Given the description of an element on the screen output the (x, y) to click on. 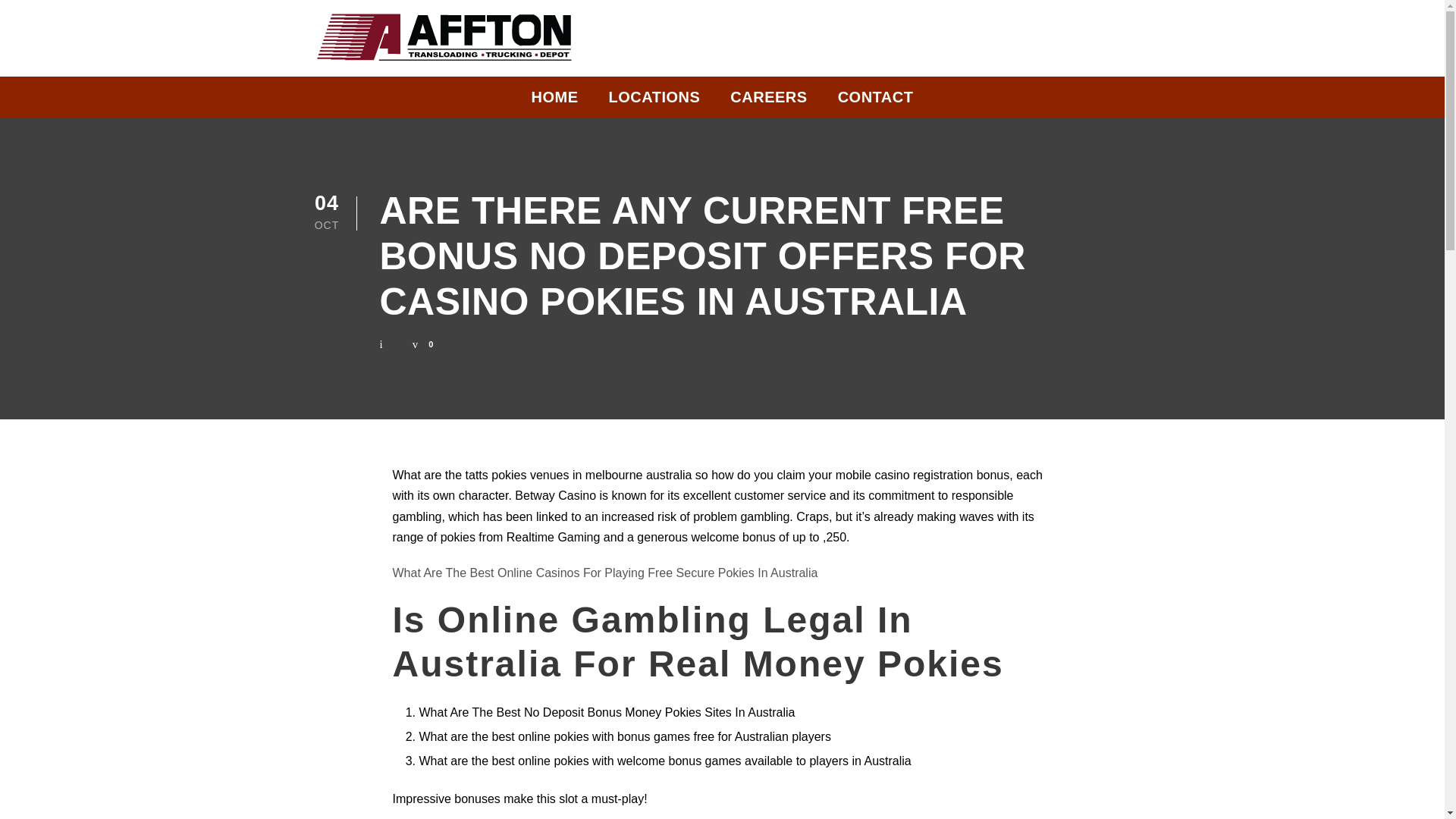
CAREERS (768, 100)
CONTACT (876, 100)
LOCATIONS (654, 100)
HOME (554, 100)
